Given the description of an element on the screen output the (x, y) to click on. 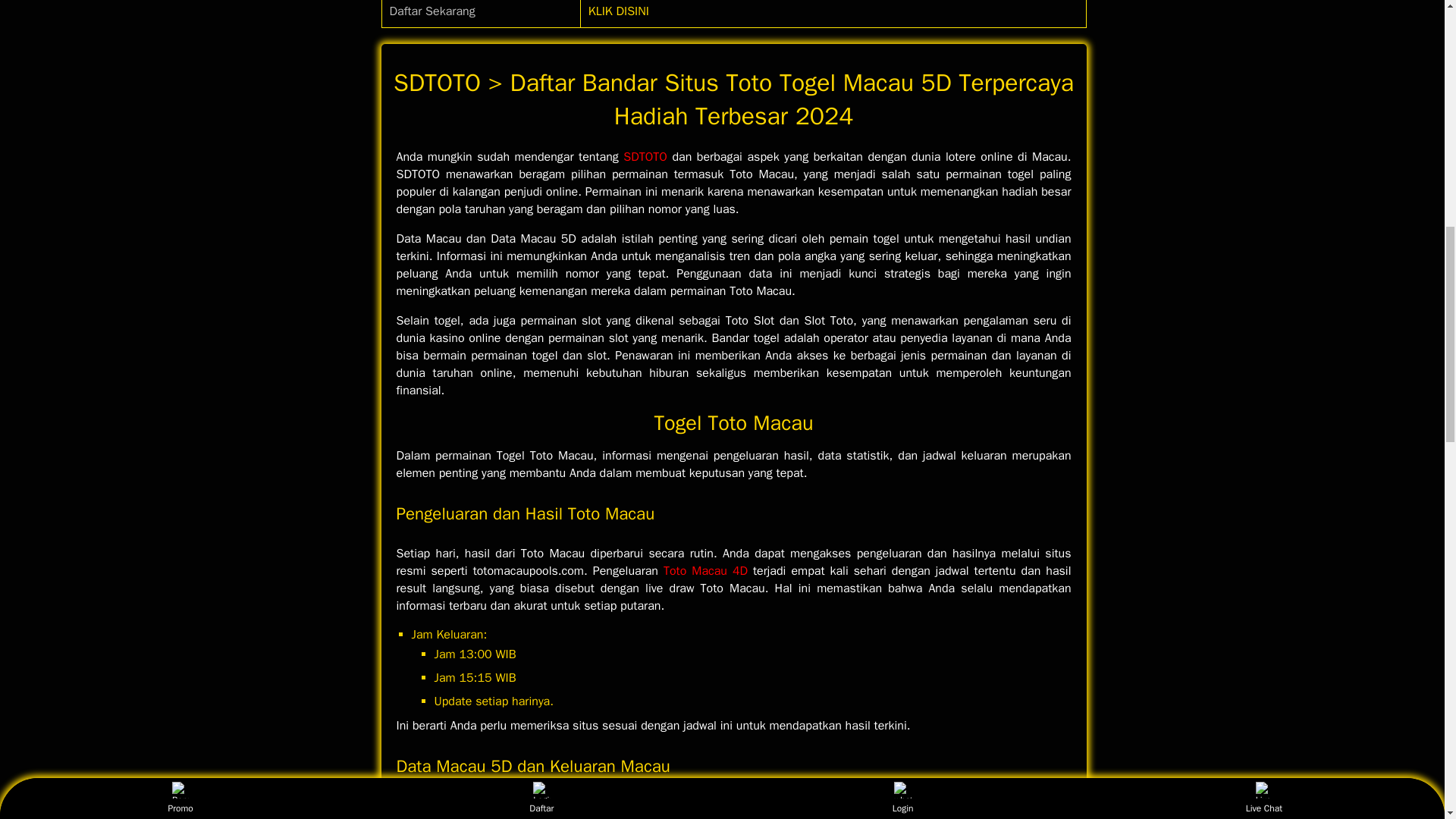
SDTOTO (644, 156)
KLIK DISINI (618, 11)
Toto Macau 4D (705, 570)
